Given the description of an element on the screen output the (x, y) to click on. 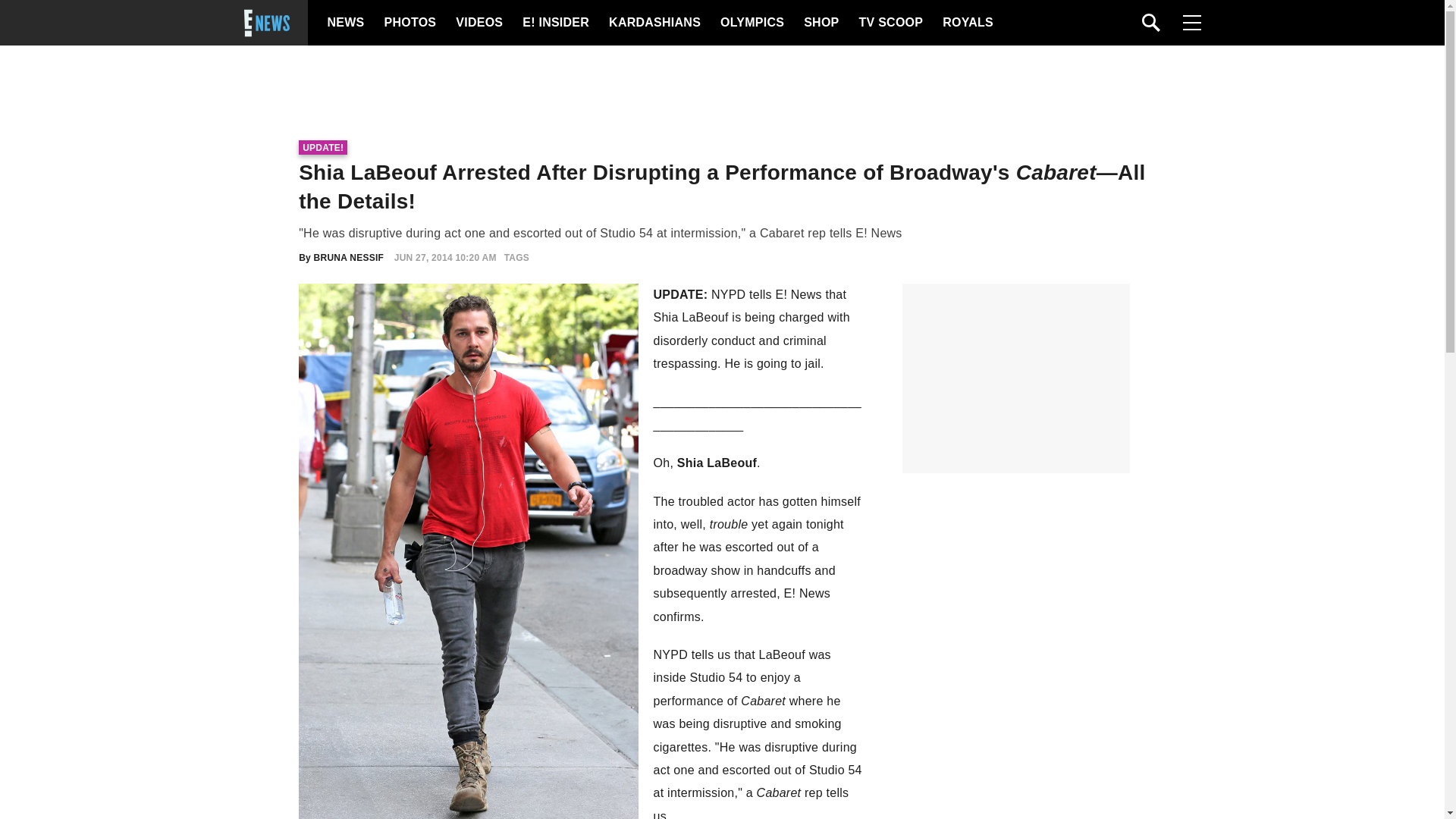
PHOTOS (408, 22)
TV SCOOP (890, 22)
NEWS (345, 22)
ROYALS (966, 22)
OLYMPICS (751, 22)
KARDASHIANS (653, 22)
VIDEOS (478, 22)
BRUNA NESSIF (349, 257)
SHOP (820, 22)
E! INSIDER (555, 22)
